Given the description of an element on the screen output the (x, y) to click on. 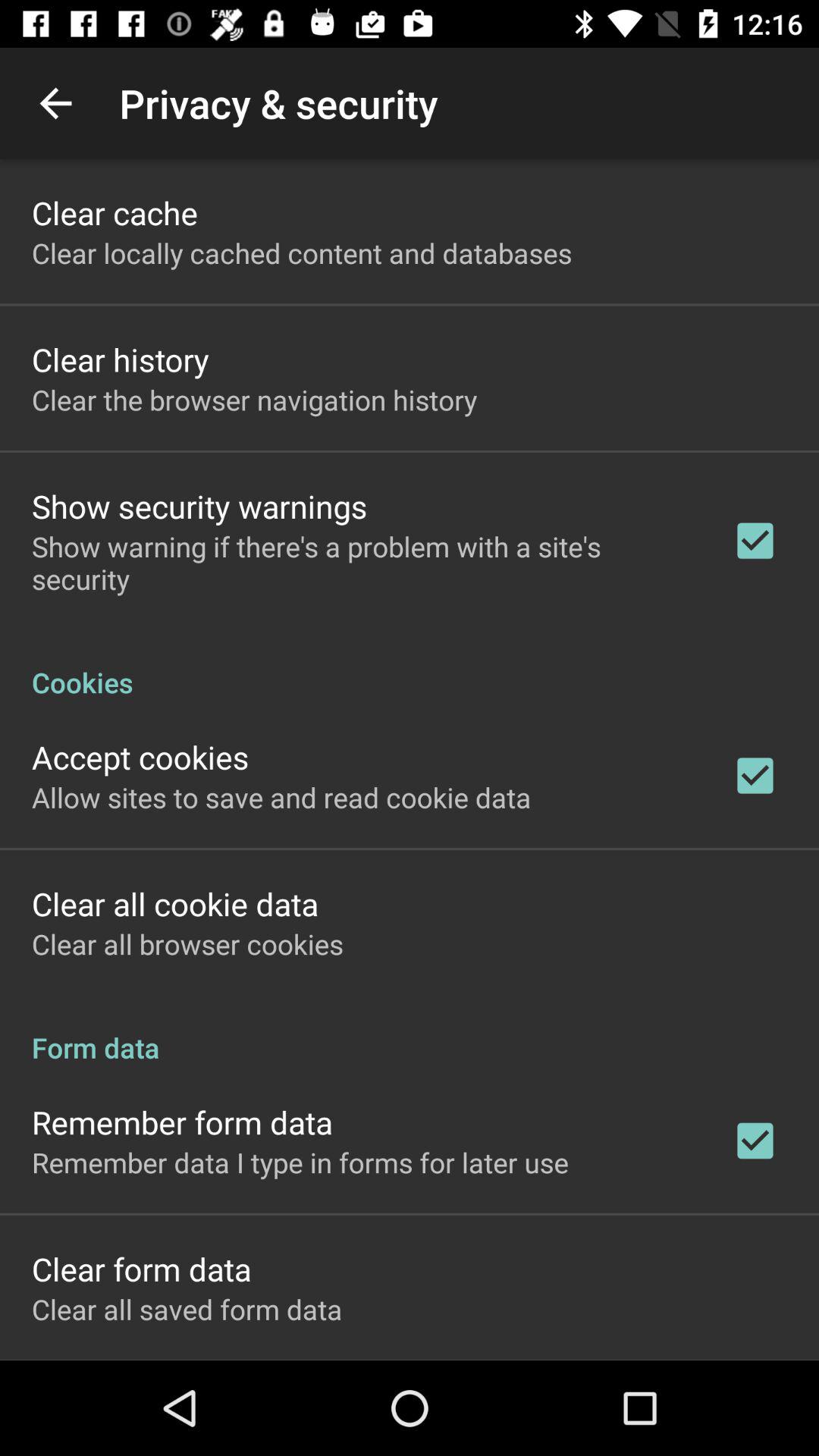
flip until allow sites to item (281, 797)
